Given the description of an element on the screen output the (x, y) to click on. 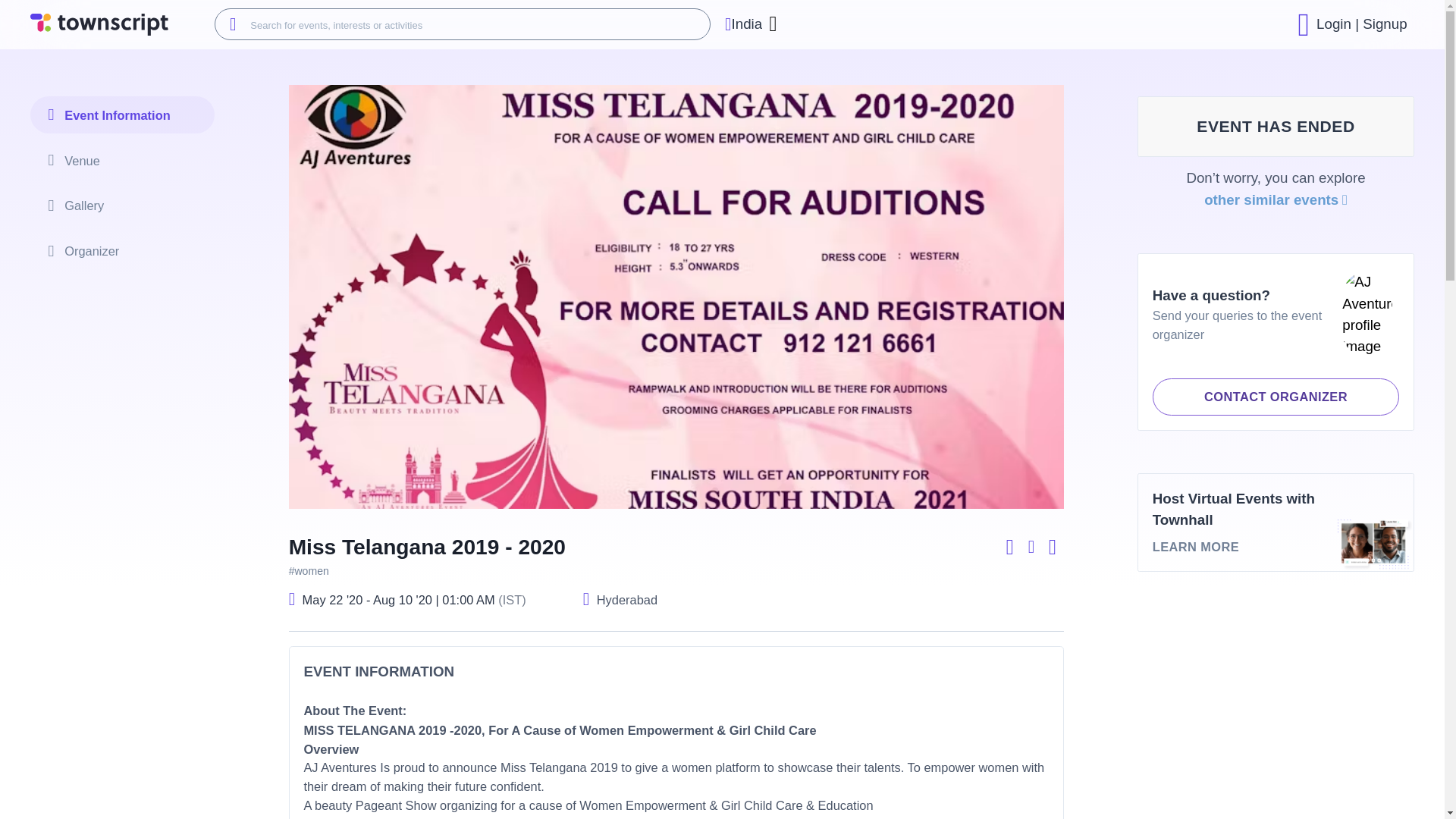
other similar events (1275, 522)
Hyderabad (1275, 200)
india (627, 599)
Townscript Event Ticketing Logo (743, 24)
